Given the description of an element on the screen output the (x, y) to click on. 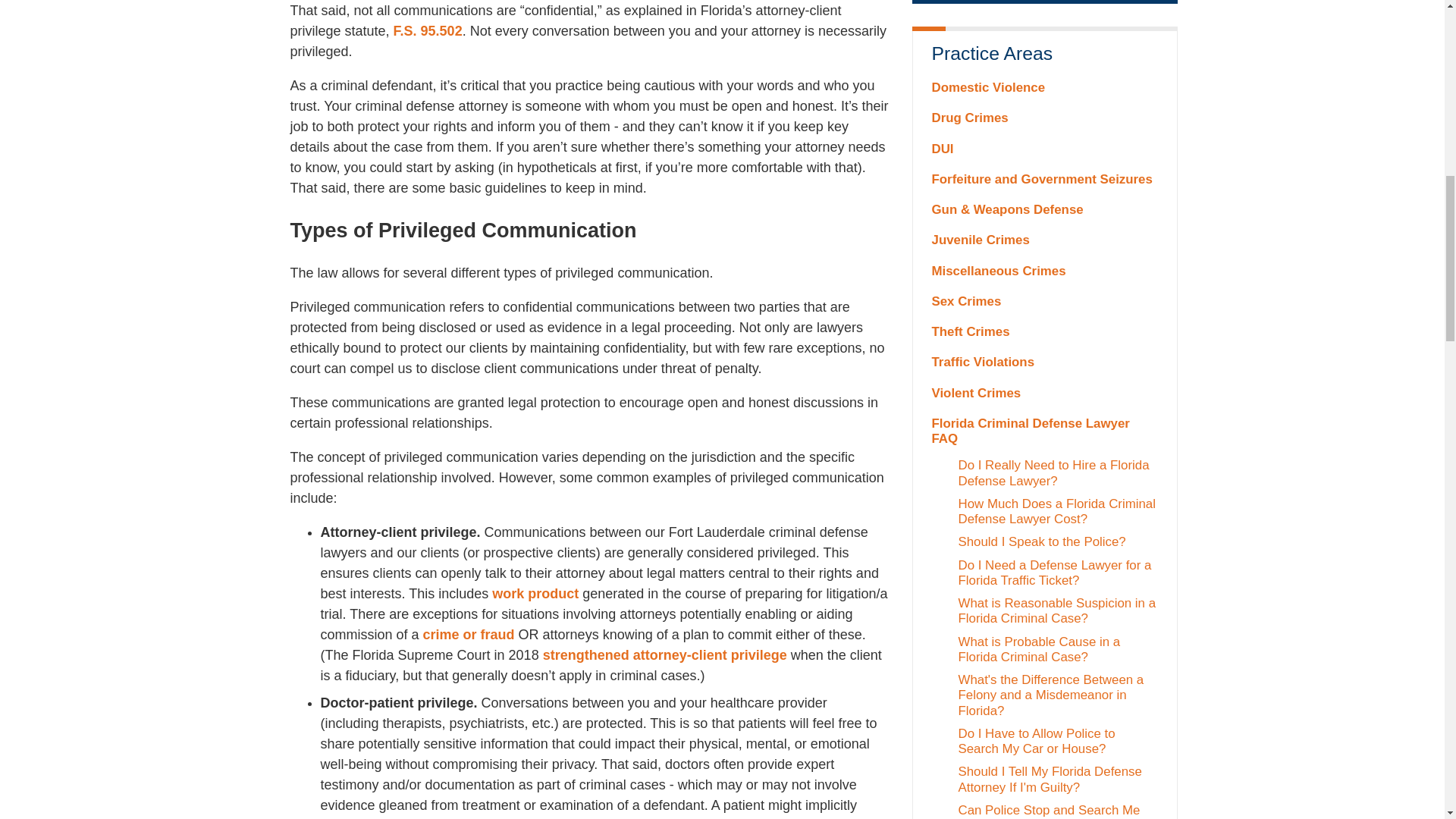
Drug Crimes (1044, 118)
work product (535, 593)
crime or fraud (469, 634)
Domestic Violence (1044, 87)
F.S. 95.502 (428, 30)
Practice Areas (1044, 53)
DUI (1044, 149)
strengthened attorney-client privilege (665, 654)
